Given the description of an element on the screen output the (x, y) to click on. 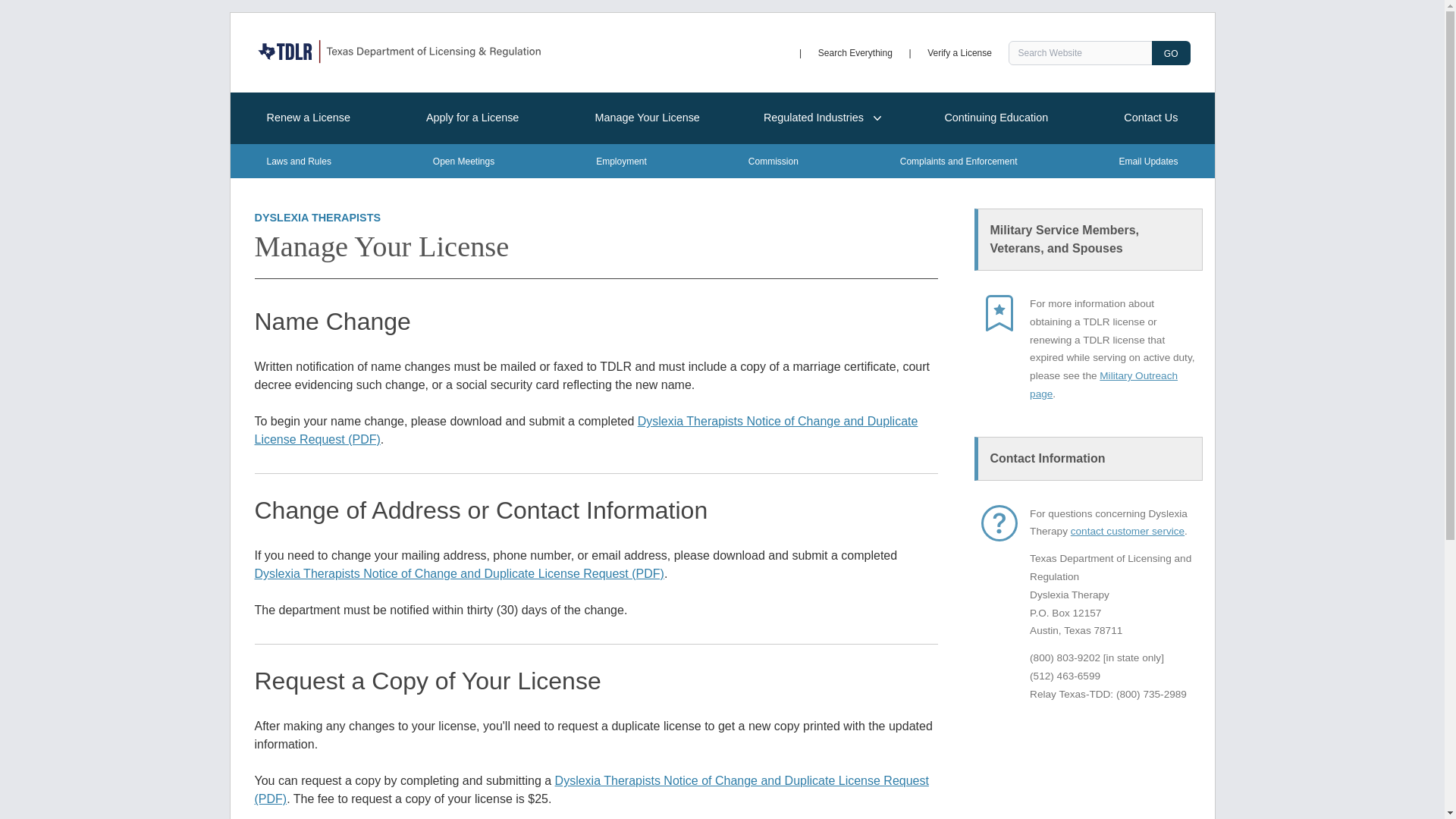
Manage Your License (646, 118)
Apply for a License (472, 118)
Search Everything (855, 51)
Renew a License (308, 118)
Regulated Industries (821, 118)
